Given the description of an element on the screen output the (x, y) to click on. 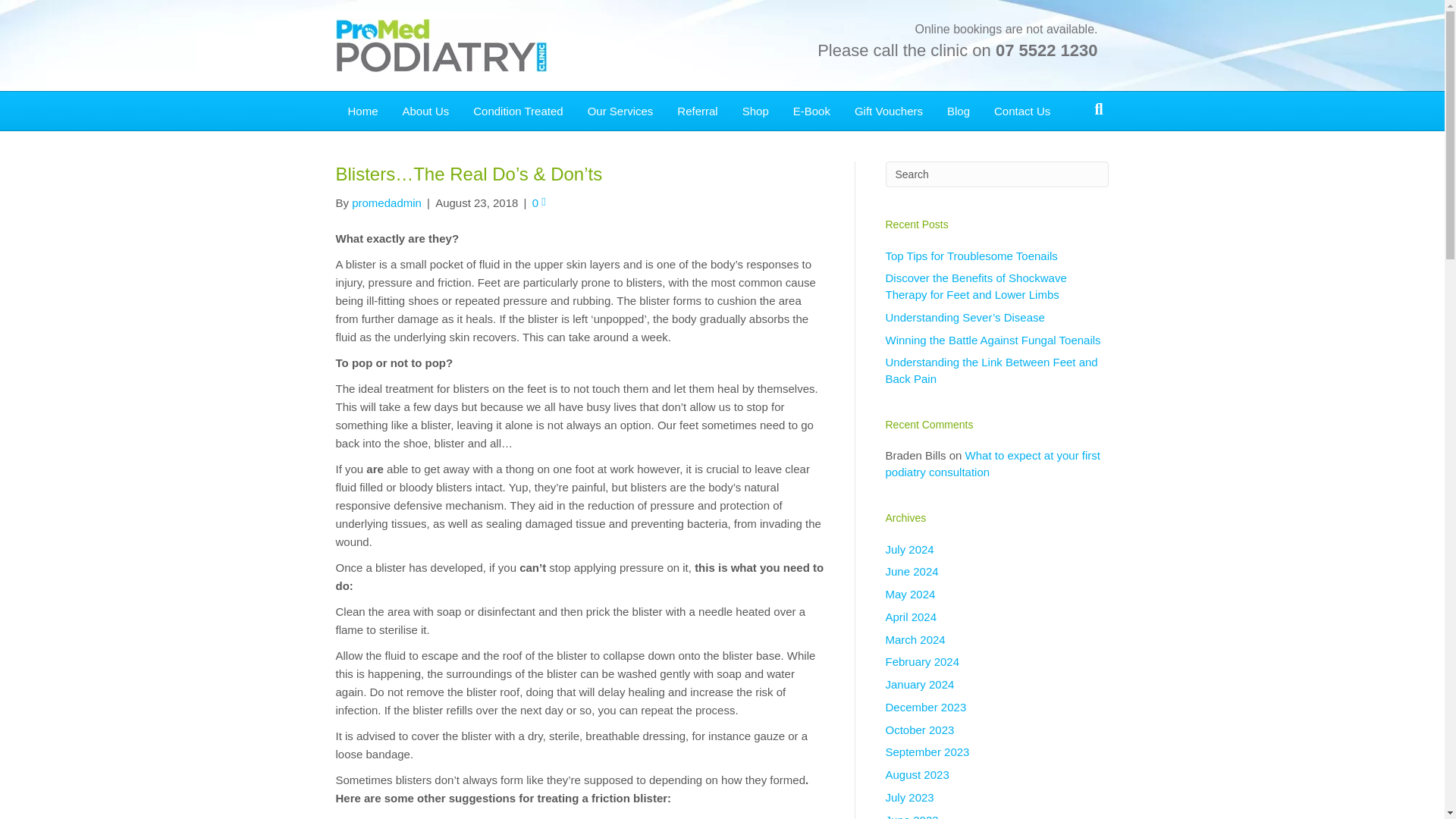
Type and press Enter to search. (997, 174)
07 5522 1230 (1046, 49)
Home (362, 110)
Referral (697, 110)
Gift Vouchers (888, 110)
Shop (755, 110)
Search (997, 174)
Search (997, 174)
Our Services (620, 110)
E-Book (811, 110)
